Given the description of an element on the screen output the (x, y) to click on. 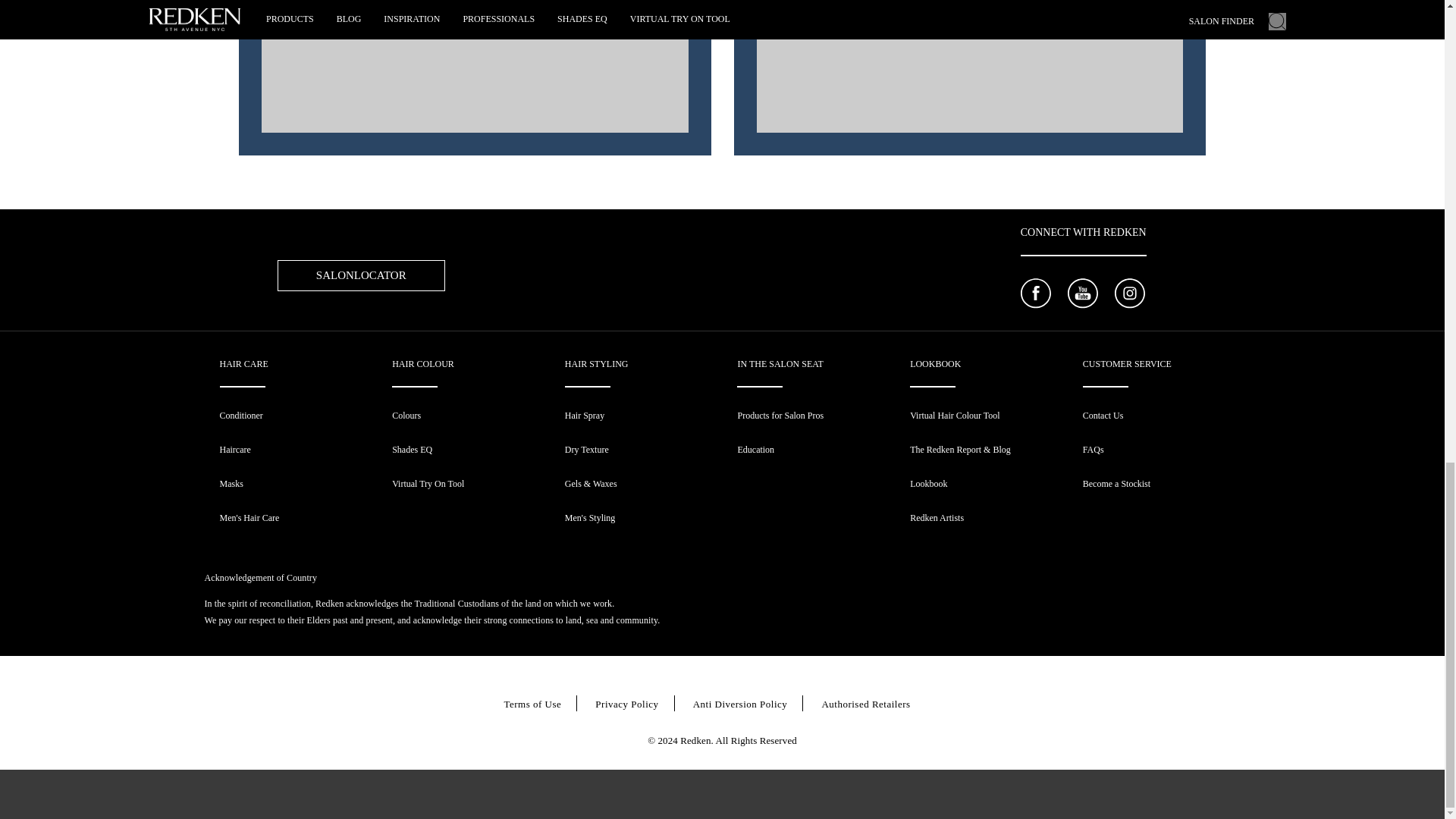
facebook (1035, 295)
instagram (1129, 295)
youtube (1082, 295)
